Given the description of an element on the screen output the (x, y) to click on. 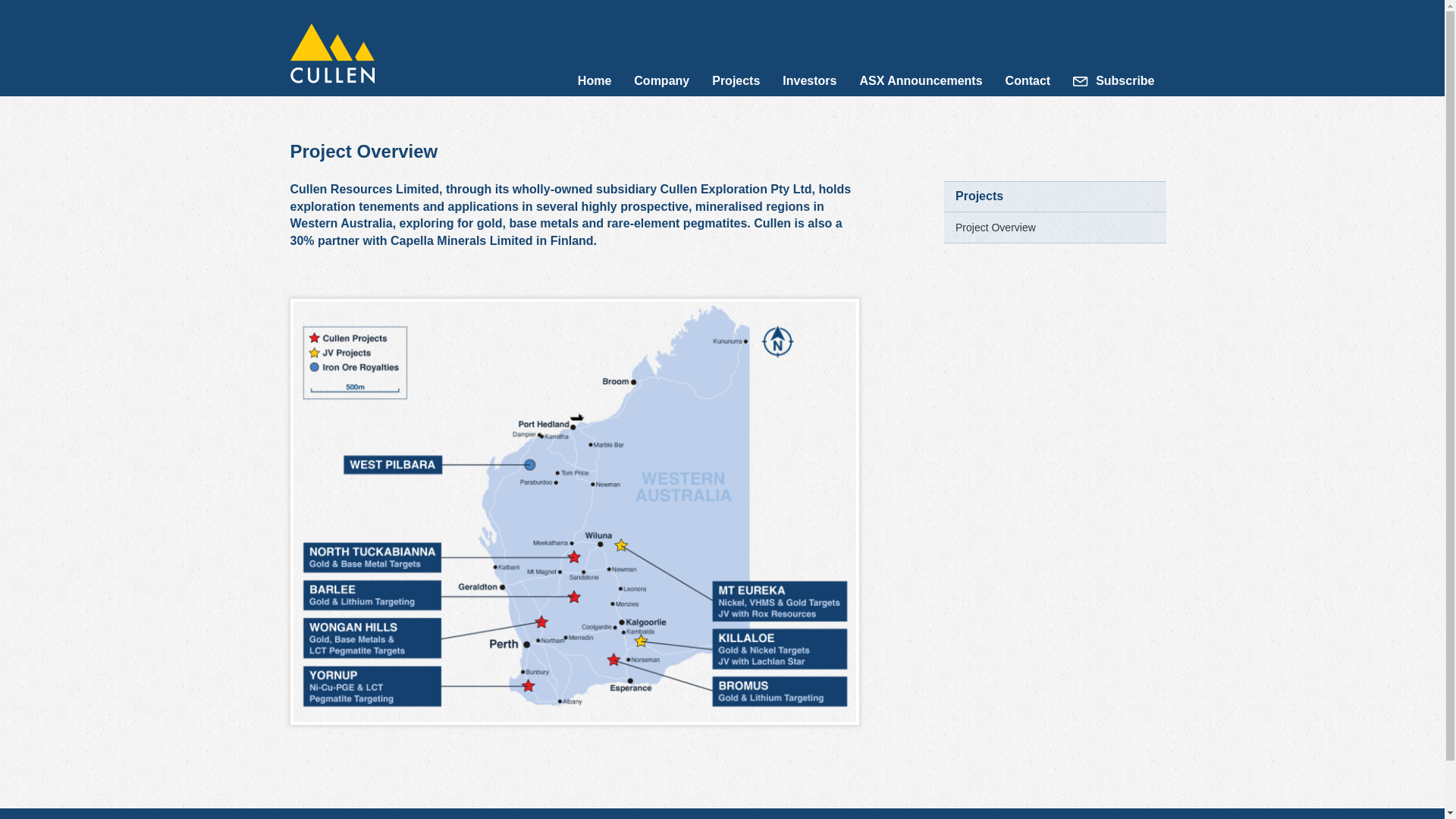
Home Element type: text (594, 80)
Company Element type: text (661, 80)
Investors Element type: text (809, 80)
Projects Element type: text (735, 80)
Project Overview Element type: text (995, 227)
Contact Element type: text (1028, 80)
ASX Announcements Element type: text (920, 80)
Subscribe Element type: text (1119, 80)
